Given the description of an element on the screen output the (x, y) to click on. 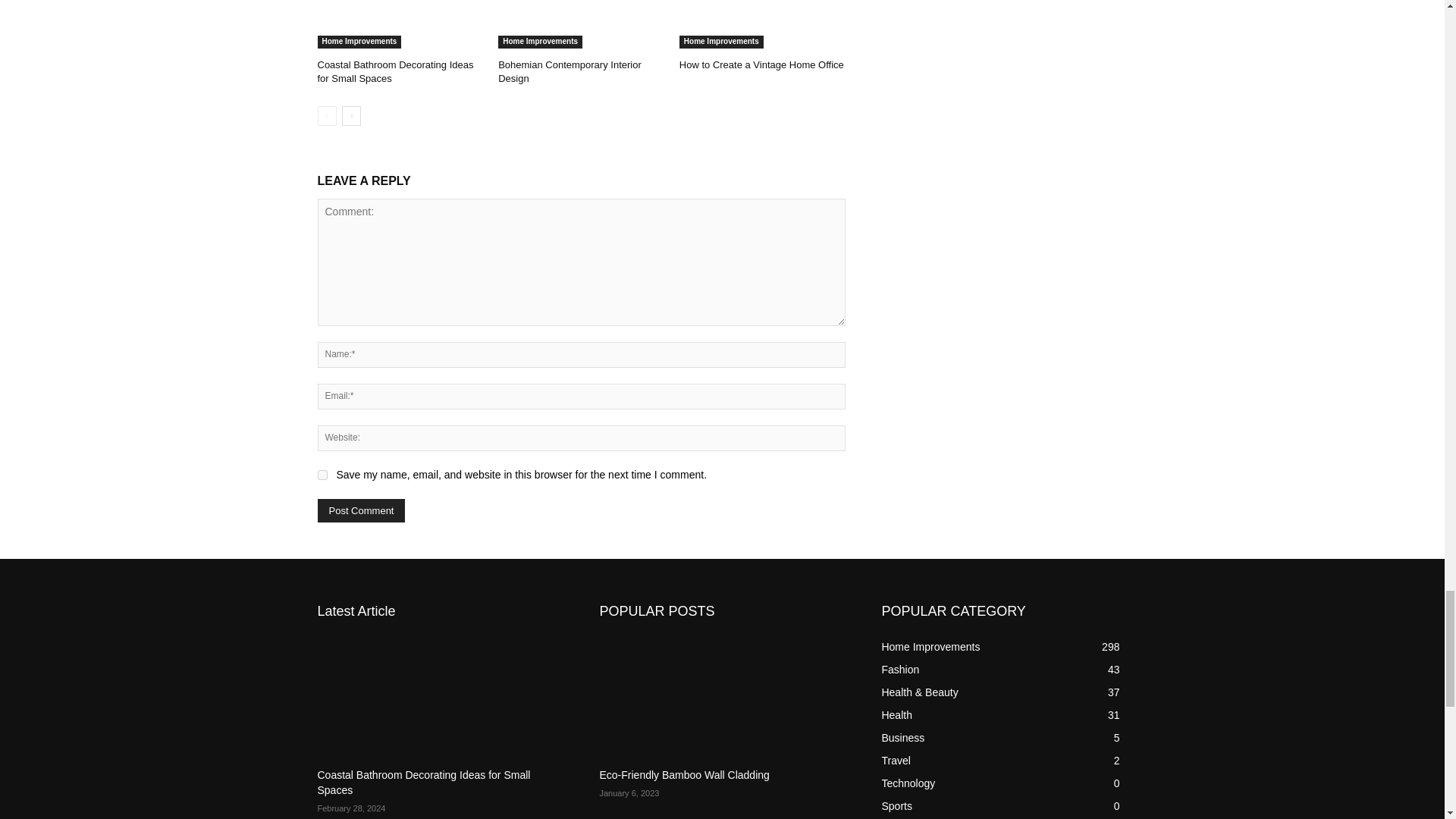
yes (321, 474)
Post Comment (360, 510)
